Given the description of an element on the screen output the (x, y) to click on. 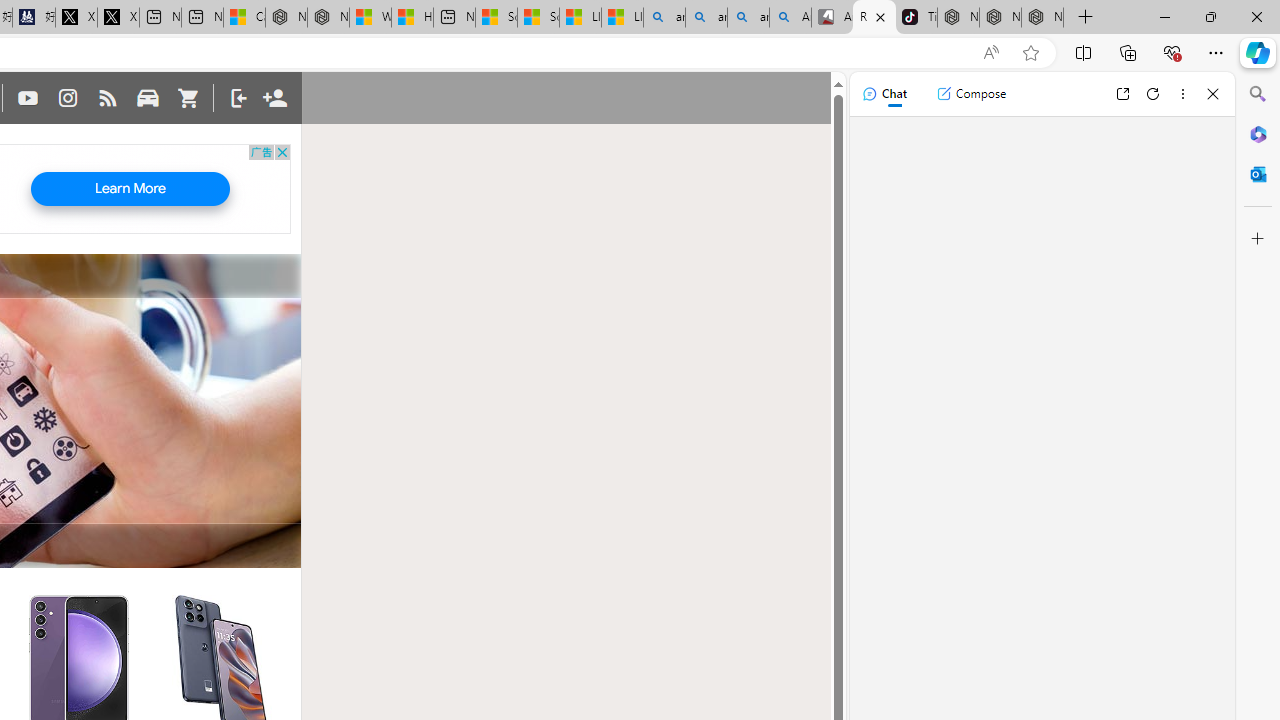
Open link in new tab (1122, 93)
Amazon Echo Robot - Search Images (790, 17)
Nordace - Siena Pro 15 Essential Set (1042, 17)
More options (1182, 93)
Chat (884, 93)
